Given the description of an element on the screen output the (x, y) to click on. 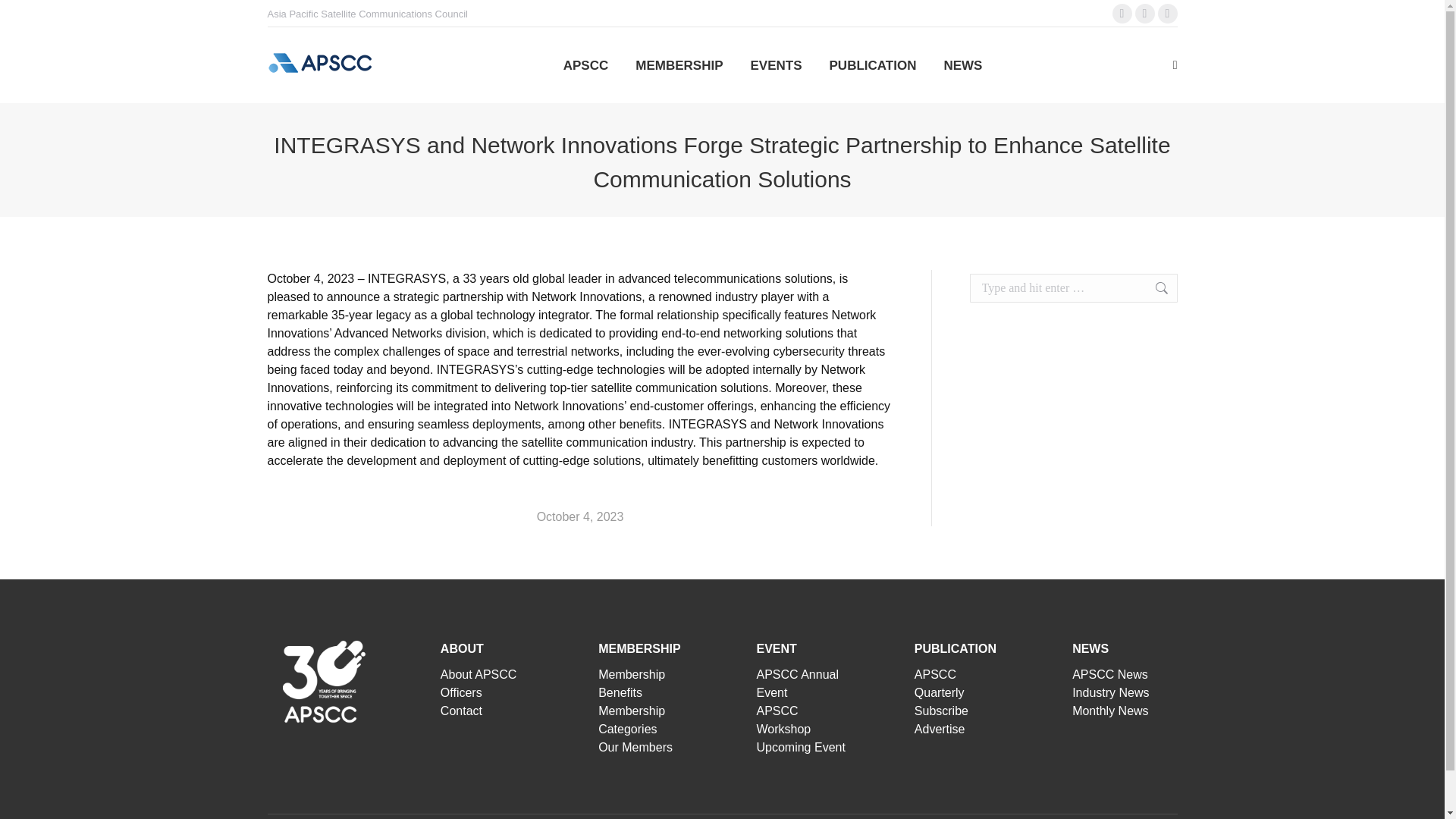
Go! (1153, 287)
Go! (1153, 287)
Twitter page opens in new window (1167, 13)
NEWS (962, 64)
Twitter page opens in new window (1167, 13)
EVENTS (775, 64)
APSCC (585, 64)
Linkedin page opens in new window (1122, 13)
Go! (1153, 287)
Linkedin page opens in new window (1122, 13)
PUBLICATION (873, 64)
MEMBERSHIP (678, 64)
ABOUT (462, 648)
Go! (24, 17)
October 4, 2023 (580, 516)
